Given the description of an element on the screen output the (x, y) to click on. 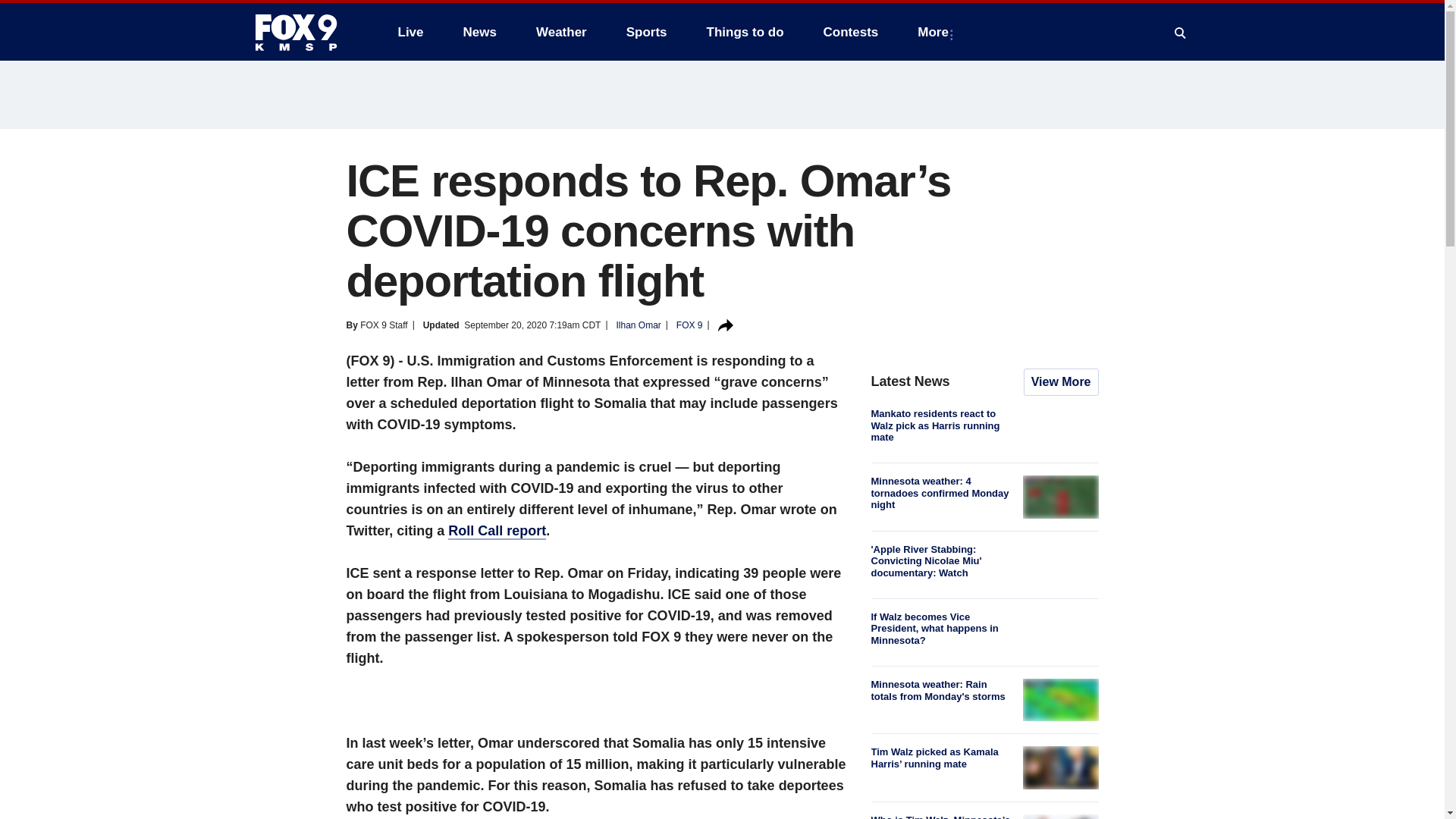
Contests (850, 32)
News (479, 32)
Live (410, 32)
Weather (561, 32)
Sports (646, 32)
Things to do (745, 32)
More (935, 32)
